Given the description of an element on the screen output the (x, y) to click on. 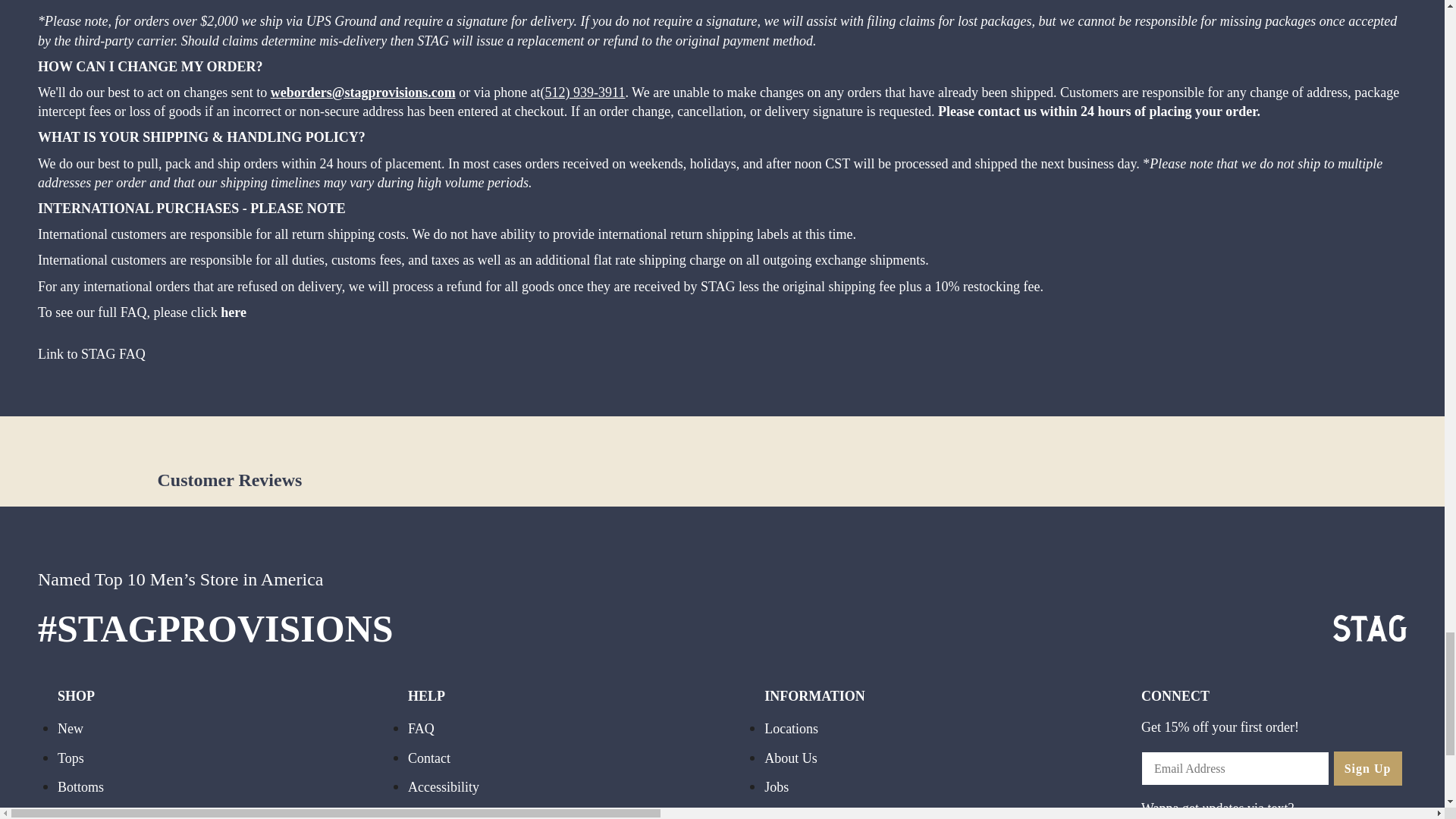
STAG Provisions FAQ page (233, 313)
STAG Provisions FAQ (91, 355)
